Given the description of an element on the screen output the (x, y) to click on. 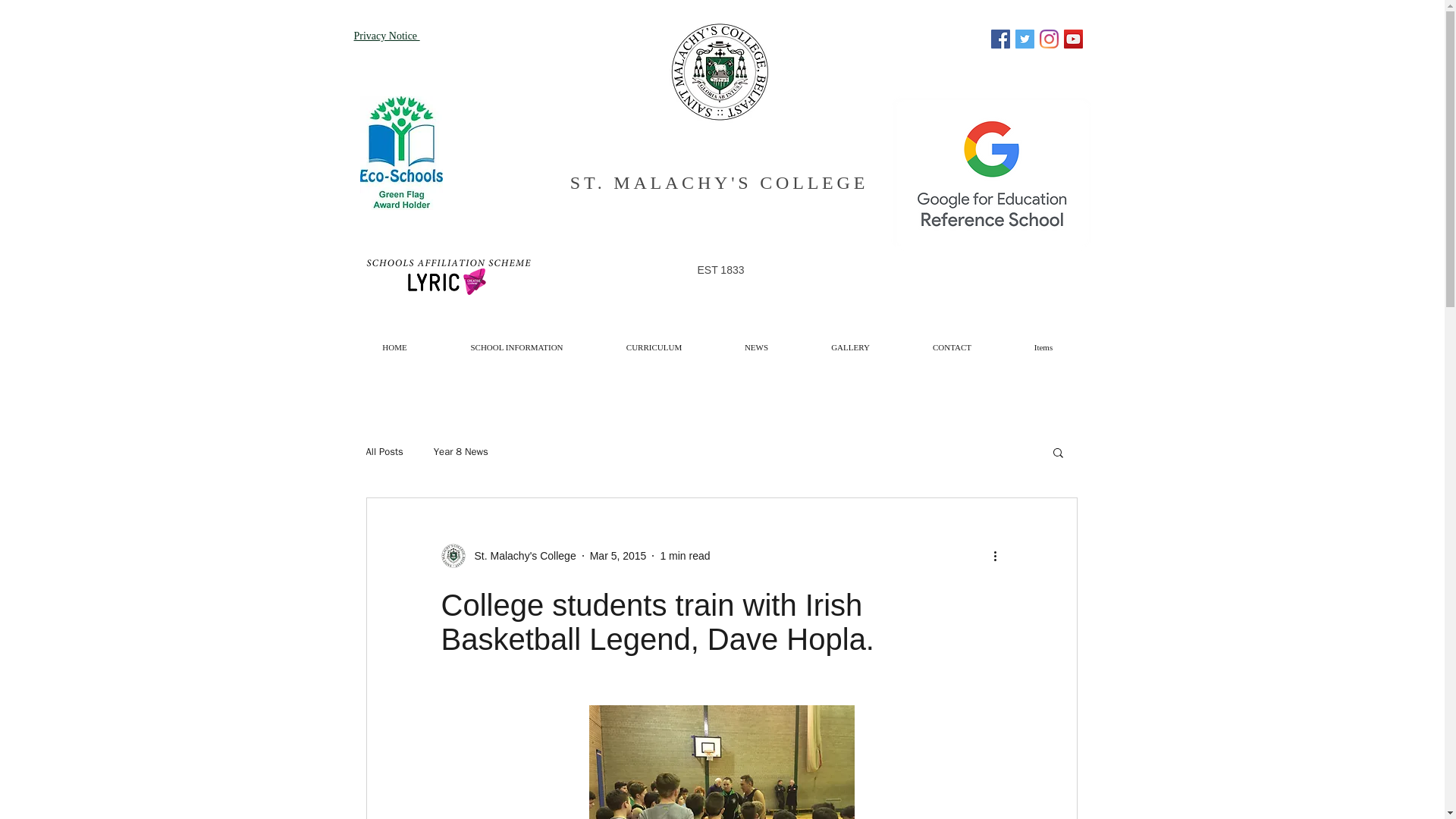
HOME (394, 340)
SMCB - Circle Crest.jpg (718, 71)
1 min read (684, 554)
CURRICULUM (653, 340)
Privacy Notice  (386, 35)
SCHOOL INFORMATION (516, 340)
St. Malachy's College (520, 555)
Mar 5, 2015 (617, 554)
